Given the description of an element on the screen output the (x, y) to click on. 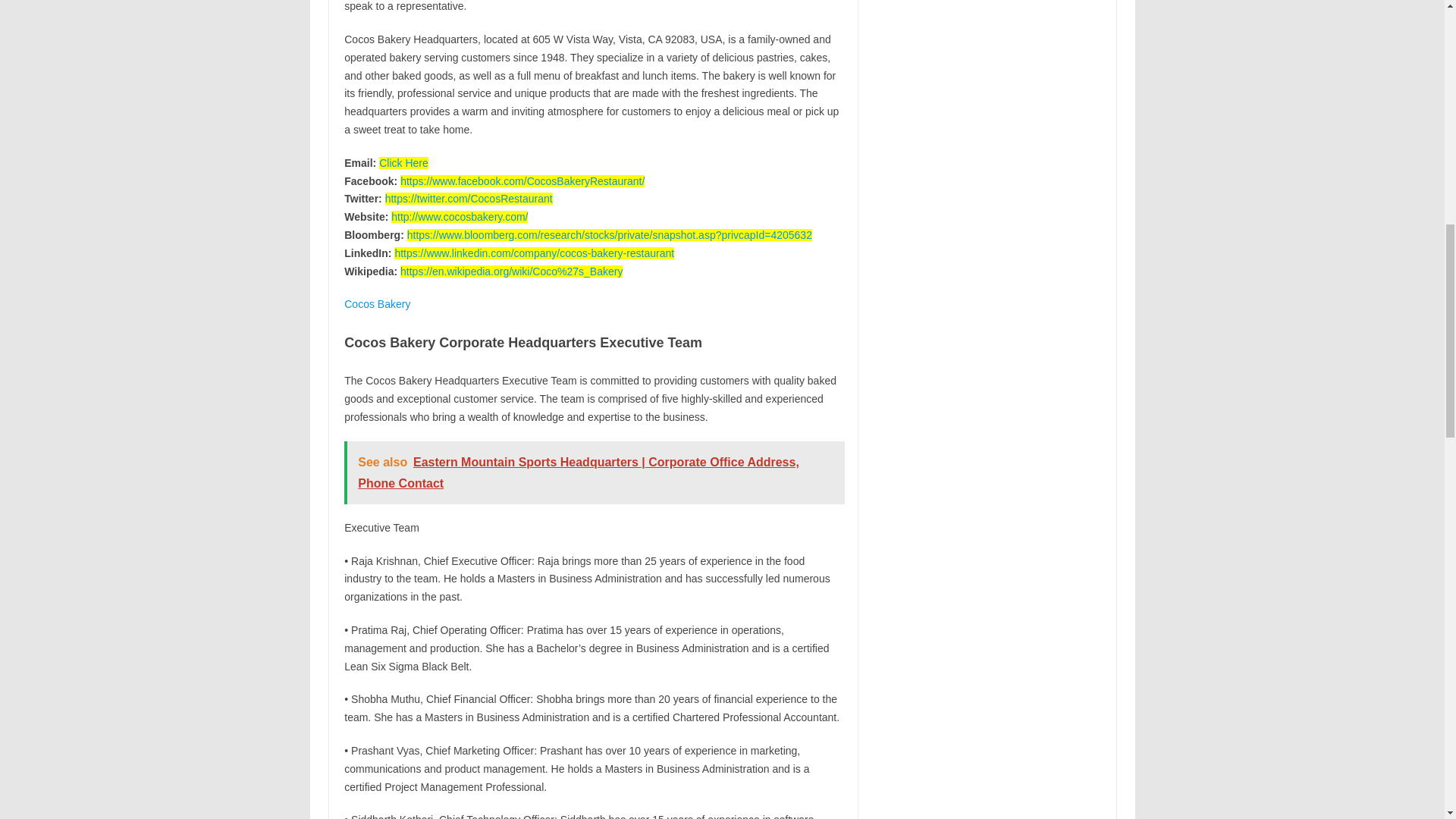
Click Here (403, 162)
Cocos Bakery (376, 304)
